Given the description of an element on the screen output the (x, y) to click on. 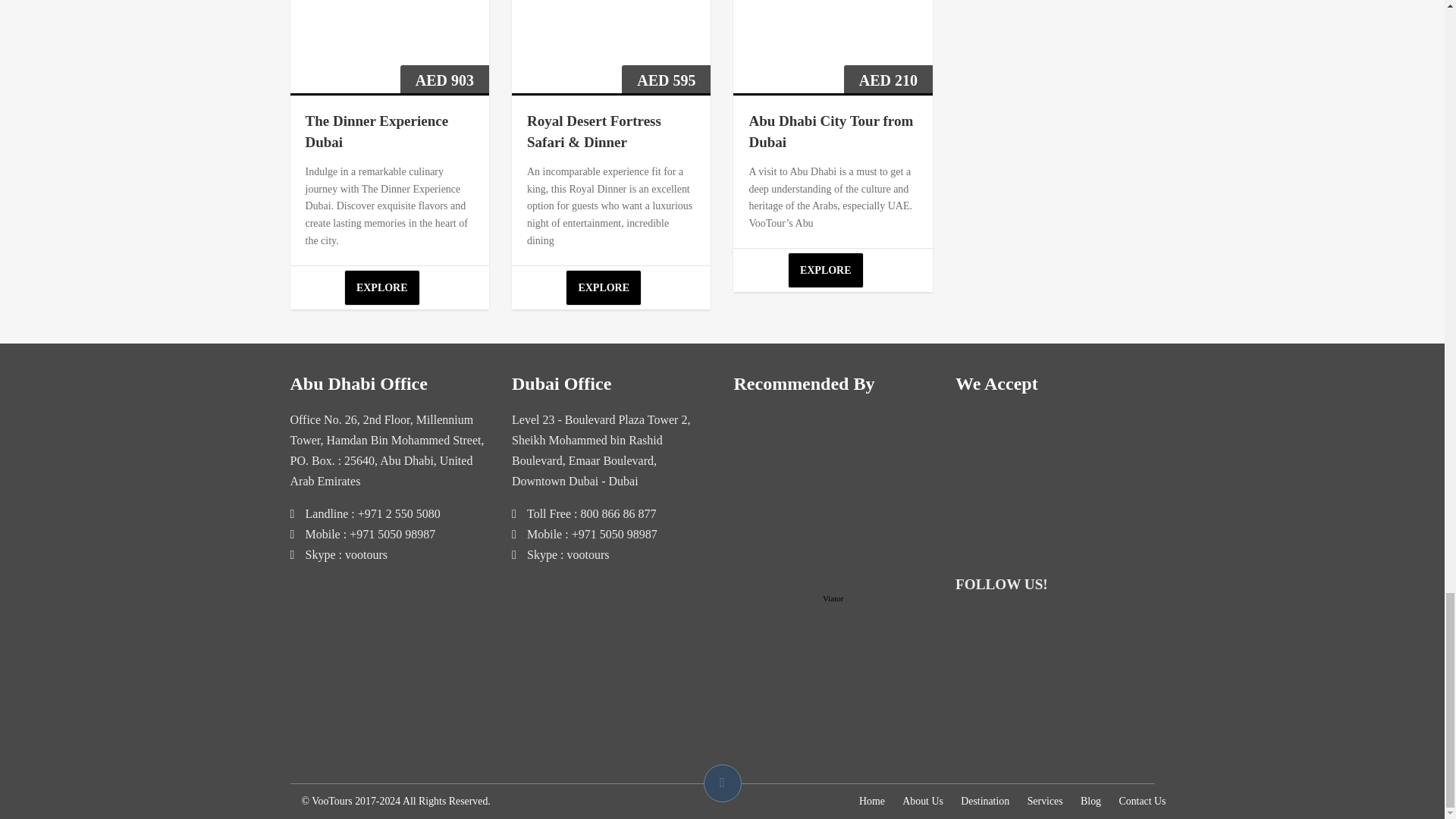
 VooTours Abu Dhabi (1007, 661)
We Accept (1054, 476)
Facebook (970, 628)
LinkedIn (1121, 628)
Explore (604, 287)
 VooTours Dubai (1045, 661)
 TikTok (1121, 661)
 TripAdvisor (1083, 661)
Twitter (1007, 628)
Explore (381, 287)
Instagram (1045, 628)
Pinterest (1083, 628)
Explore (825, 270)
YouTube (970, 661)
